Given the description of an element on the screen output the (x, y) to click on. 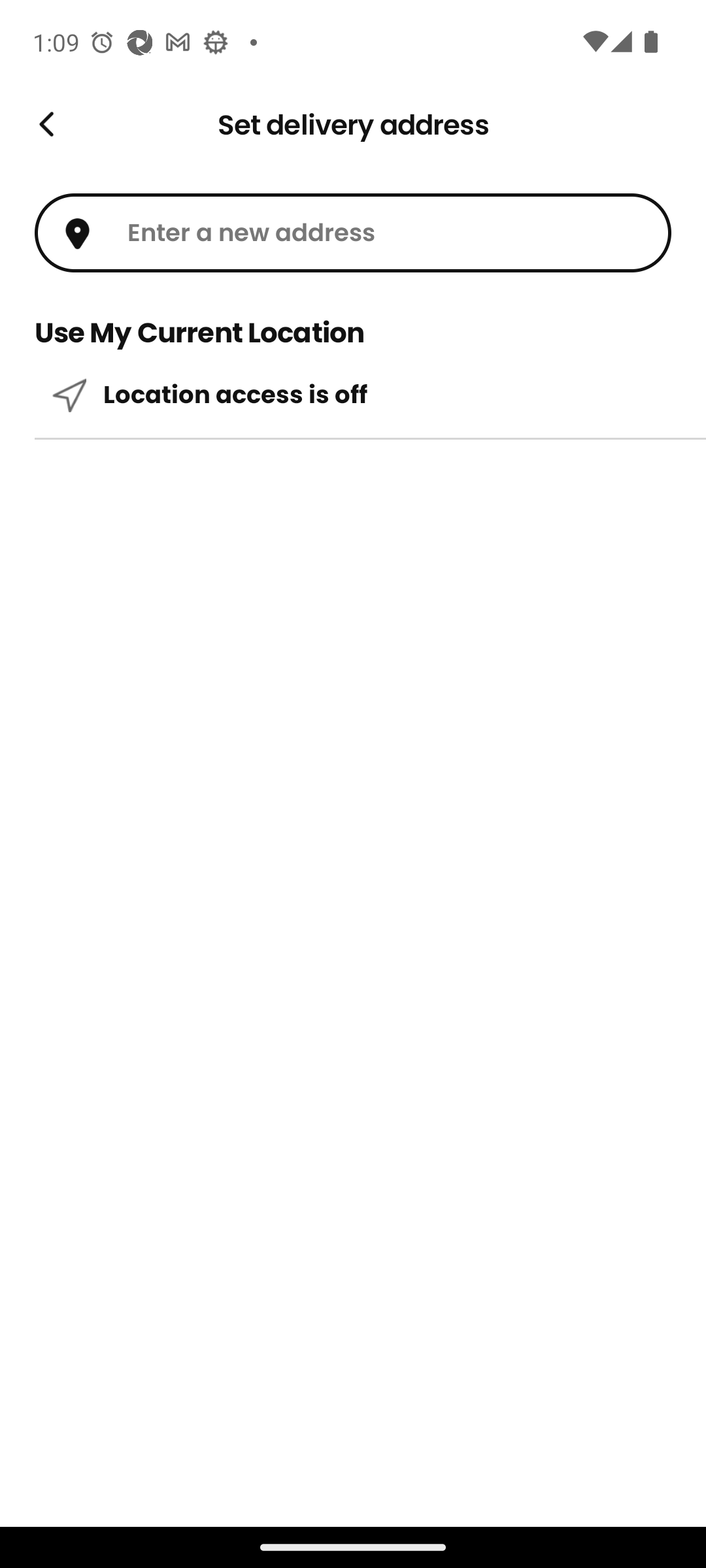
Enter a new address (352, 232)
Location access is off (352, 394)
